Given the description of an element on the screen output the (x, y) to click on. 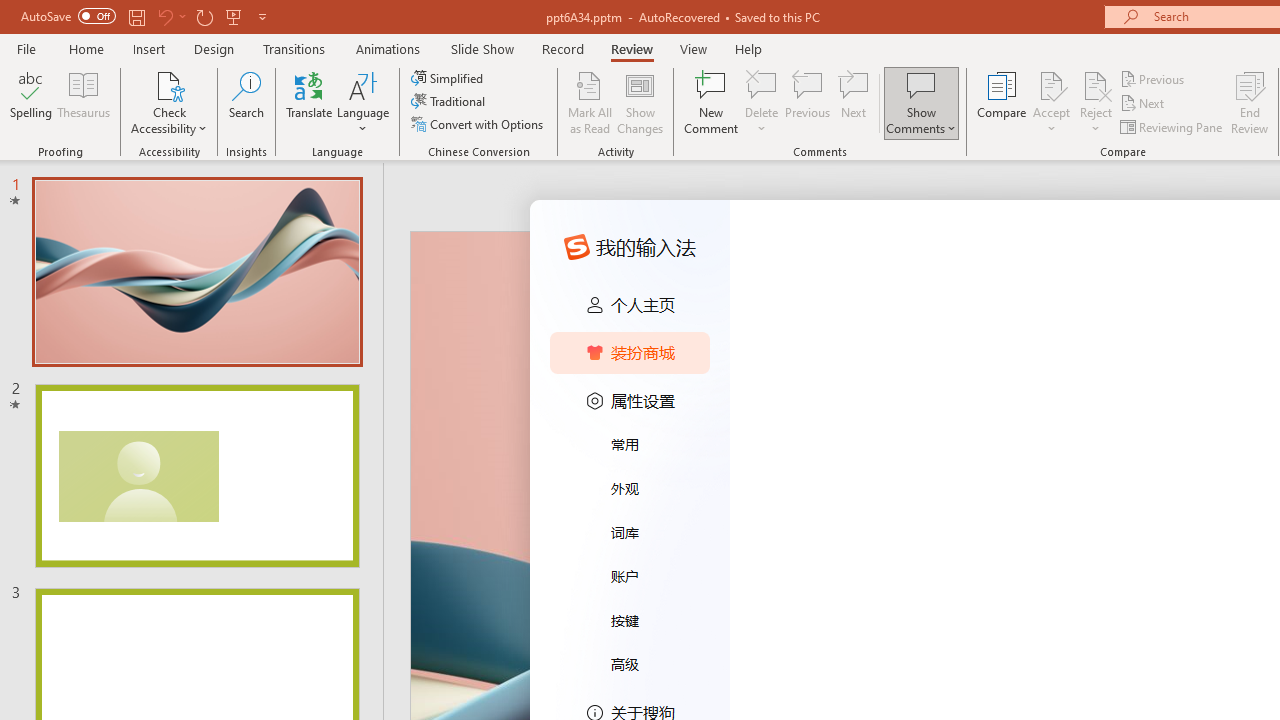
Compare (1002, 102)
Previous (1153, 78)
Simplified (449, 78)
Next (1144, 103)
Reject Change (1096, 84)
Accept (1051, 102)
Translate (309, 102)
